Given the description of an element on the screen output the (x, y) to click on. 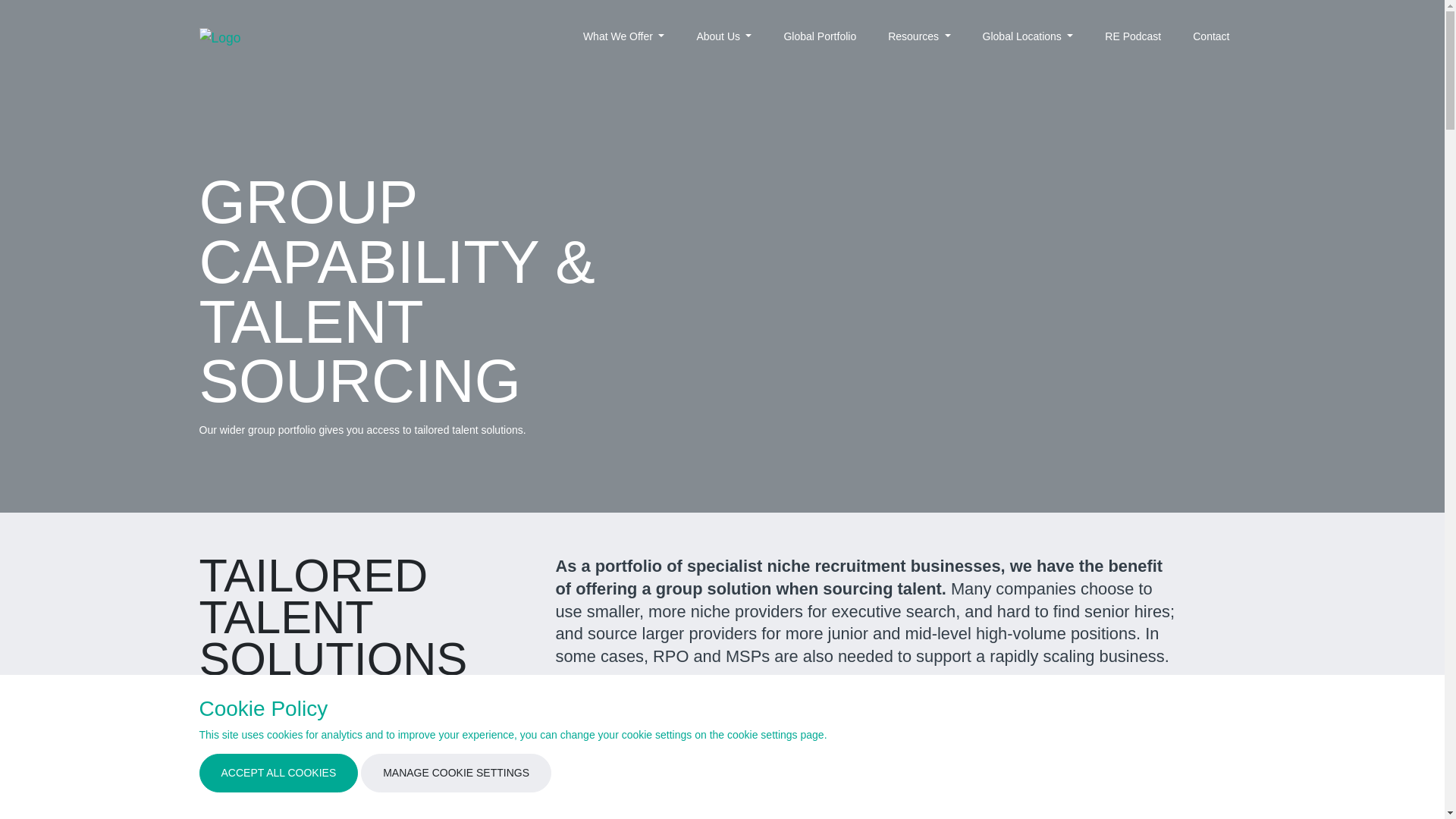
What We Offer (623, 36)
About Us (723, 36)
Global Locations (1027, 36)
Resources (918, 36)
Contact (1211, 36)
RE Podcast (1132, 36)
Global Portfolio (819, 36)
